Given the description of an element on the screen output the (x, y) to click on. 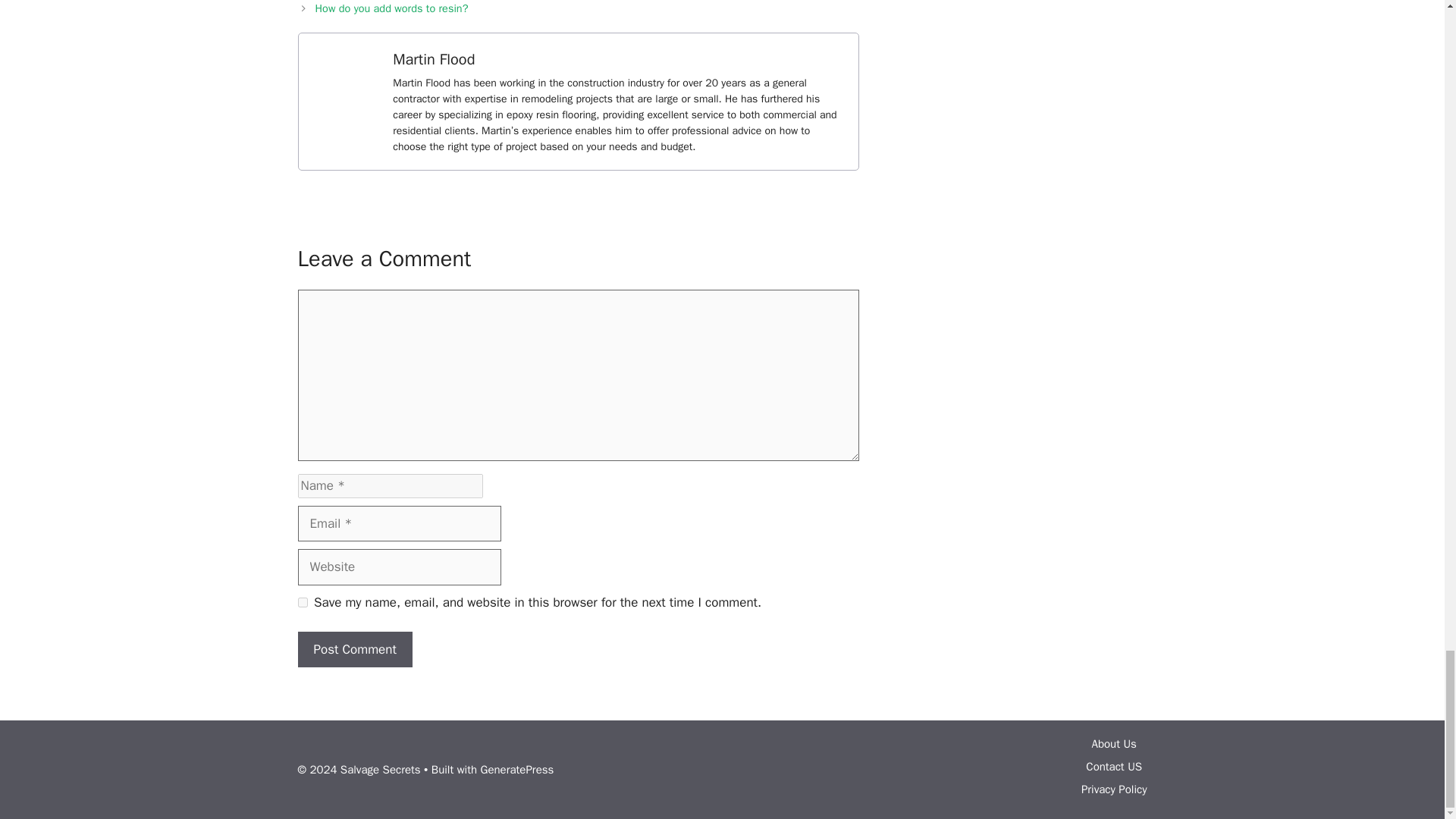
Post Comment (354, 649)
yes (302, 602)
